Given the description of an element on the screen output the (x, y) to click on. 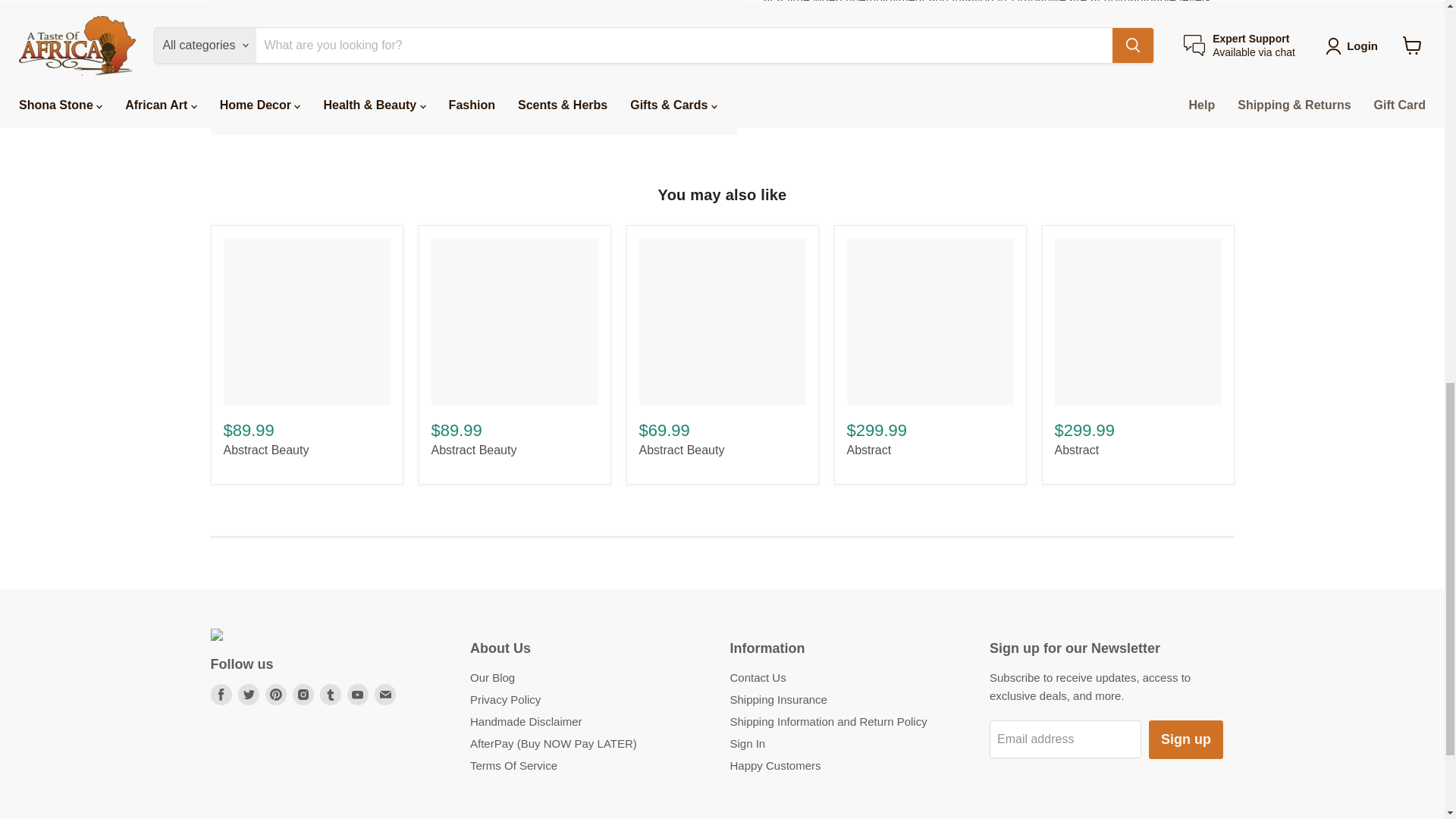
Tumblr (330, 694)
Instagram (303, 694)
Pinterest (275, 694)
Facebook (221, 694)
Twitter (248, 694)
Youtube (357, 694)
Email (385, 694)
